Given the description of an element on the screen output the (x, y) to click on. 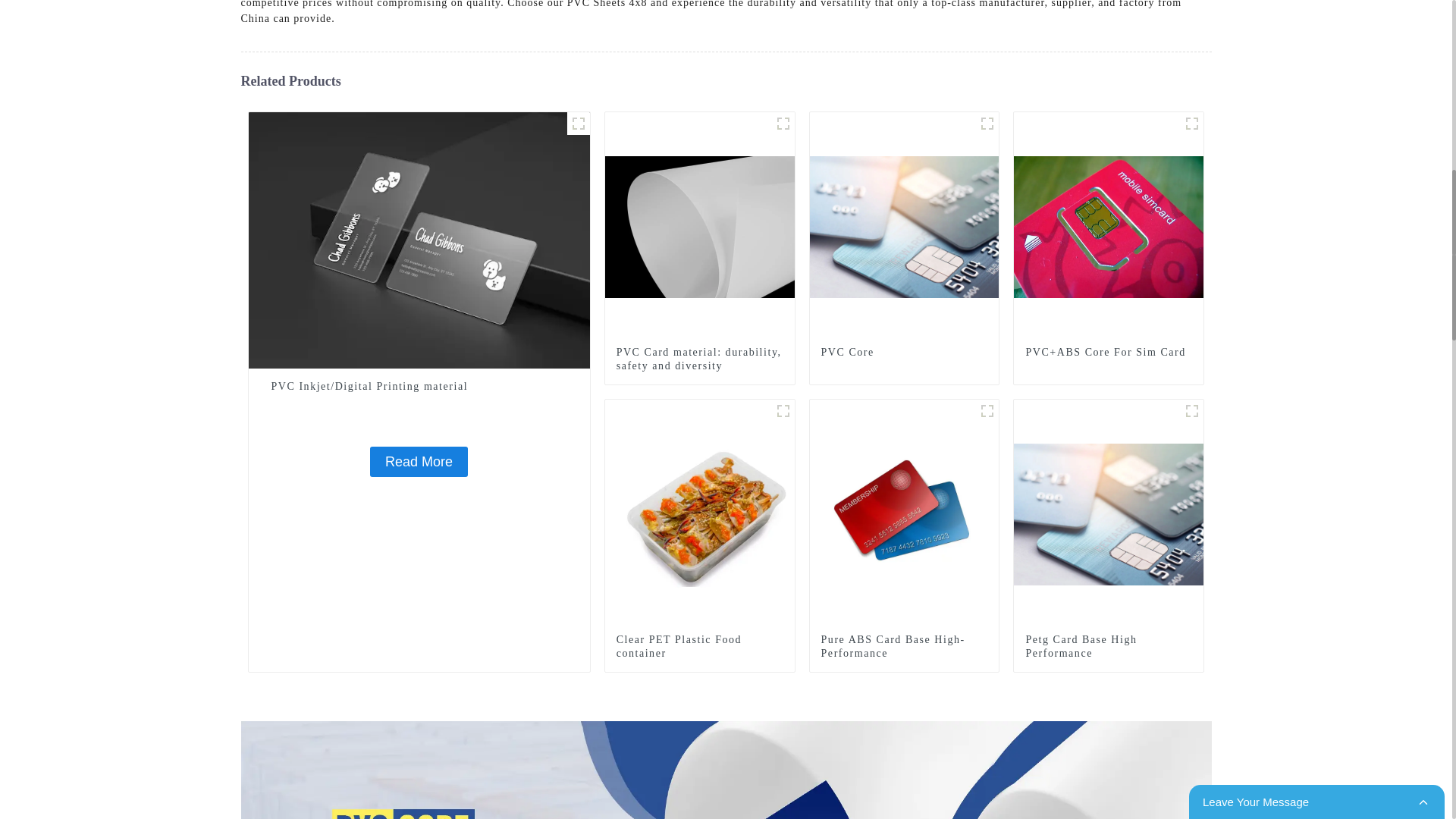
PVC Core (904, 352)
Pure ABS Card Base High-Performance (904, 646)
Pure ABS Card Base High-Performance (903, 512)
WechatIMG203 (1192, 123)
PVC Card material: durability, safety and diversity (699, 359)
Read More (418, 461)
PVC Card material: durability, safety and diversity (699, 225)
PVC Card material: durability, safety and diversity (699, 359)
Transparent Core (578, 123)
PVC Core (903, 225)
 Clear PET Plastic Food container (699, 512)
 Clear PET Plastic Food container (699, 646)
